Given the description of an element on the screen output the (x, y) to click on. 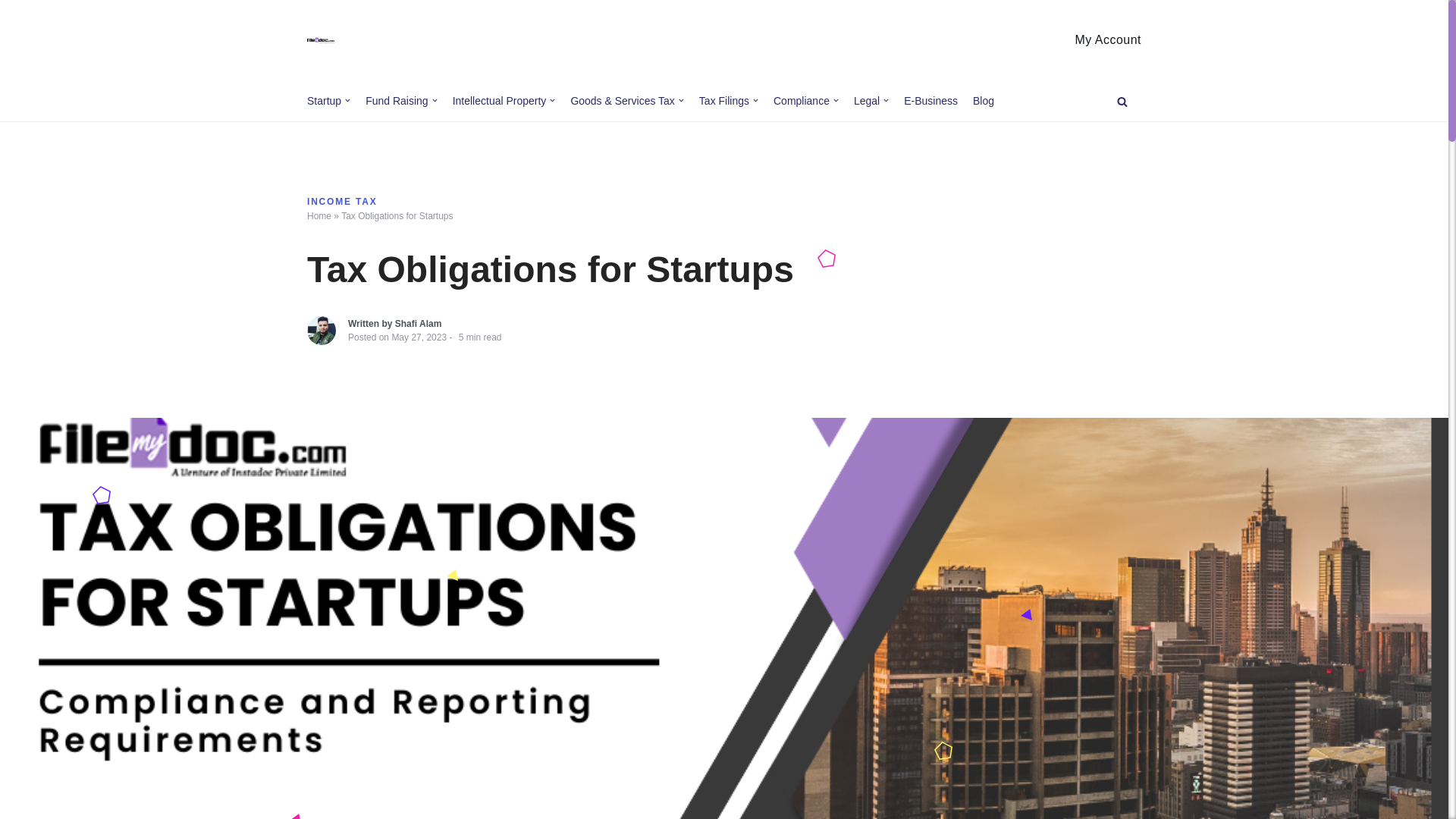
Filemydoc.com (320, 40)
Startup (328, 99)
Intellectual Property (504, 99)
Fund Raising (401, 99)
My Account (1107, 39)
